Given the description of an element on the screen output the (x, y) to click on. 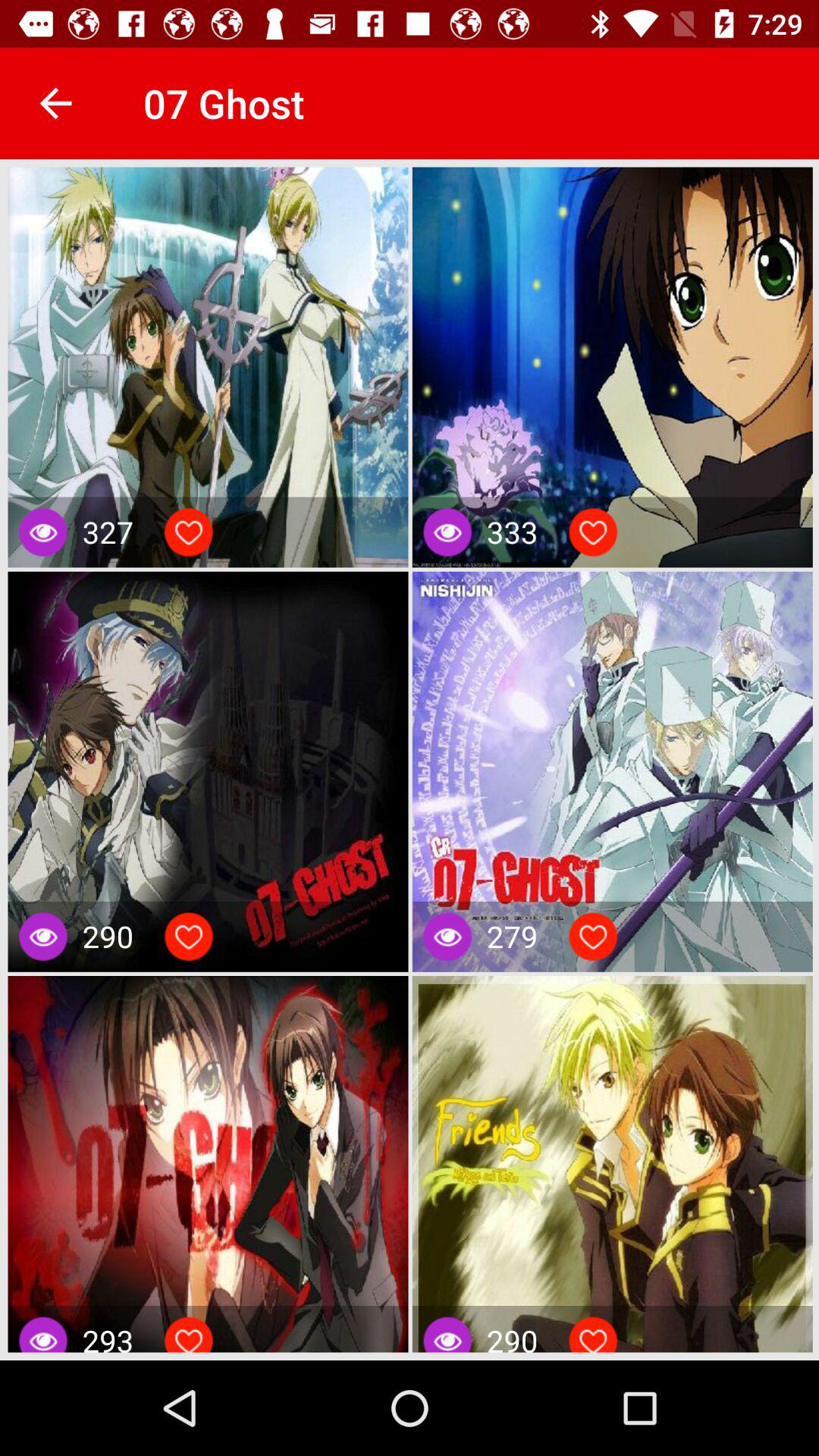
love the post (188, 532)
